Given the description of an element on the screen output the (x, y) to click on. 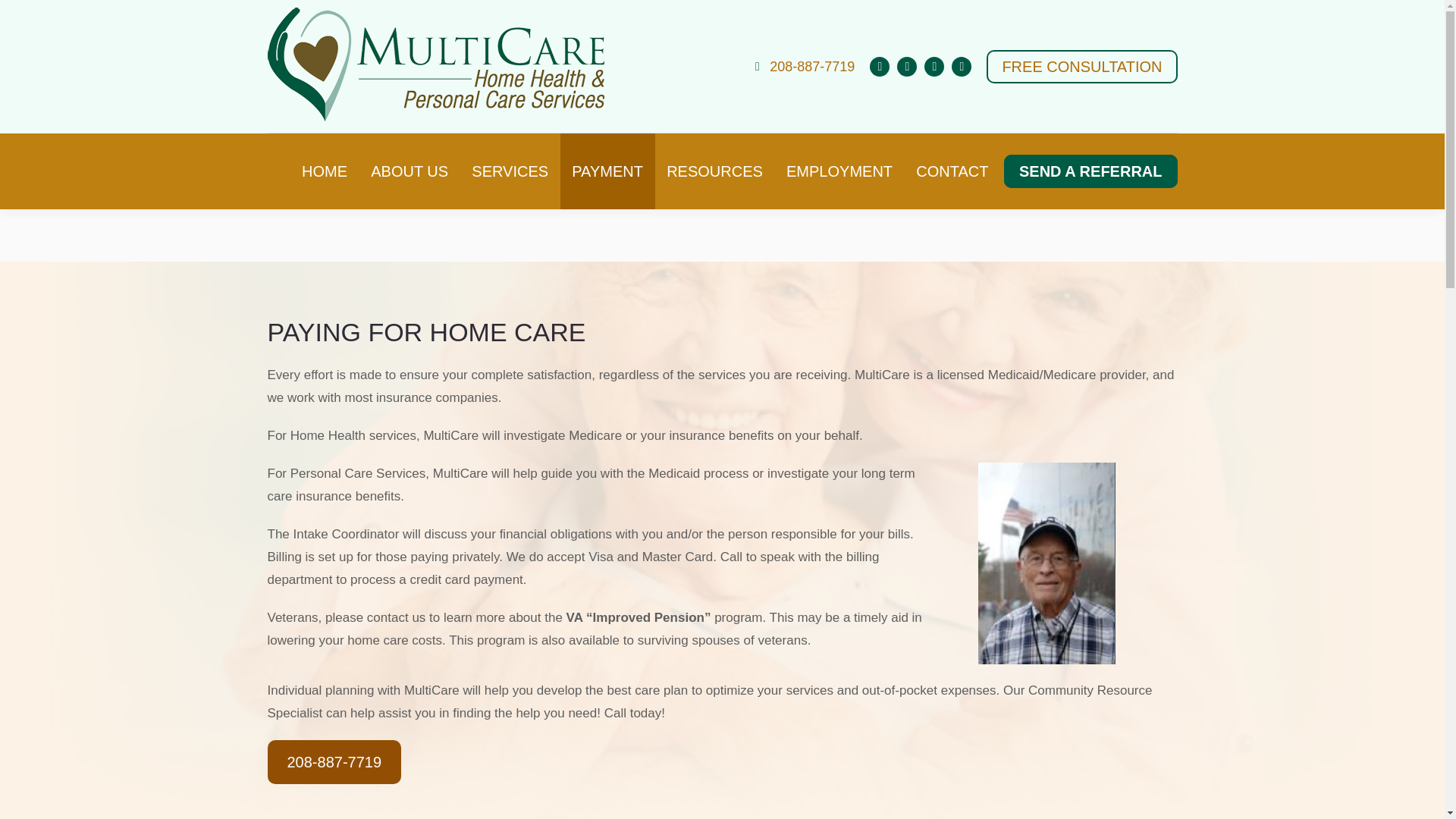
YouTube page opens in new window (906, 66)
ABOUT US (409, 171)
Facebook page opens in new window (879, 66)
208-887-7719 (802, 66)
SERVICES (510, 171)
EMPLOYMENT (839, 171)
PAYMENT (607, 171)
Linkedin page opens in new window (933, 66)
Facebook page opens in new window (879, 66)
FREE CONSULTATION (1081, 66)
SEND A REFERRAL (1090, 171)
YouTube page opens in new window (906, 66)
Linkedin page opens in new window (933, 66)
HOME (323, 171)
Instagram page opens in new window (961, 66)
